Given the description of an element on the screen output the (x, y) to click on. 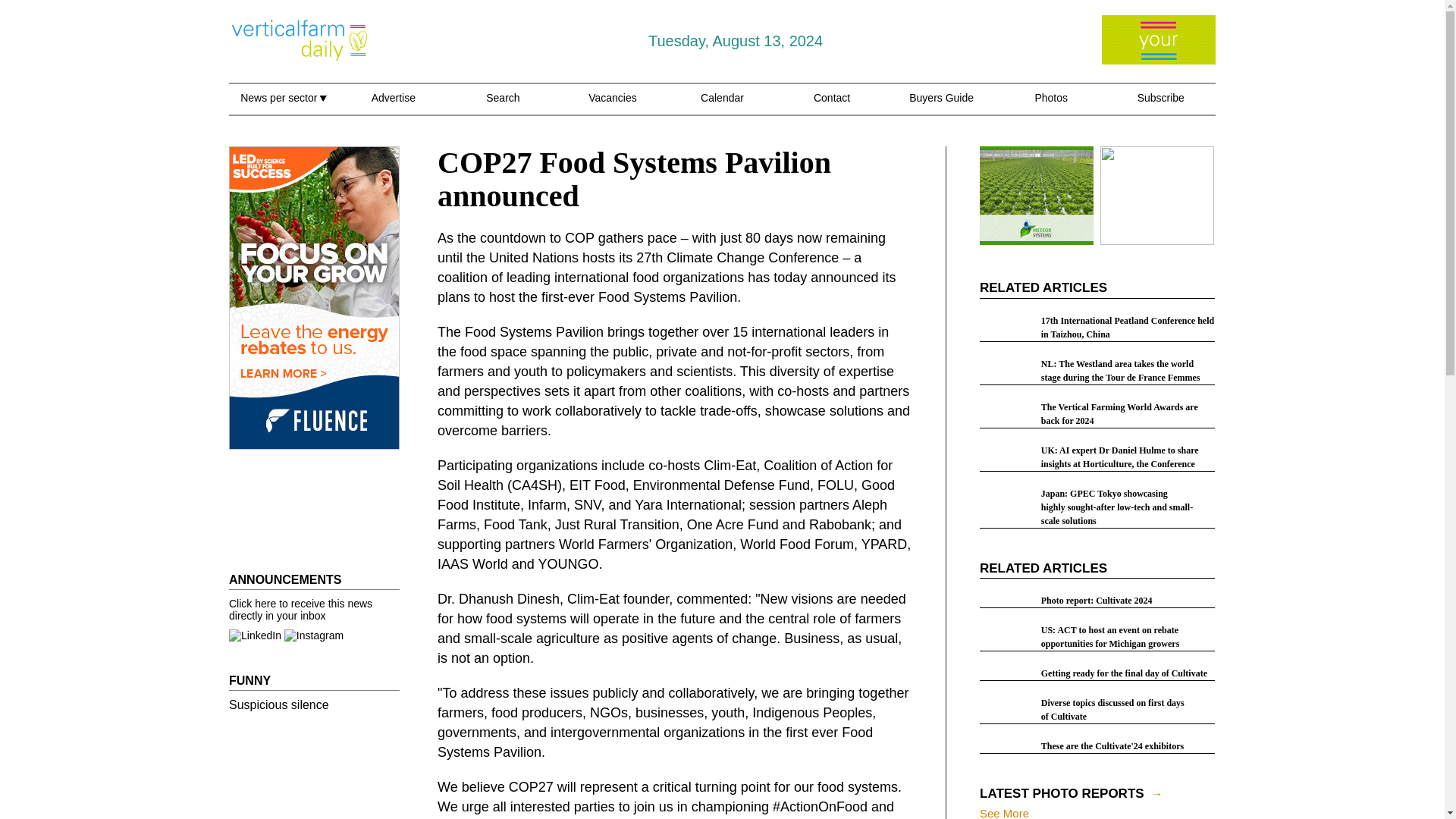
Search (502, 106)
News per sector (283, 106)
Advertise (392, 106)
